Given the description of an element on the screen output the (x, y) to click on. 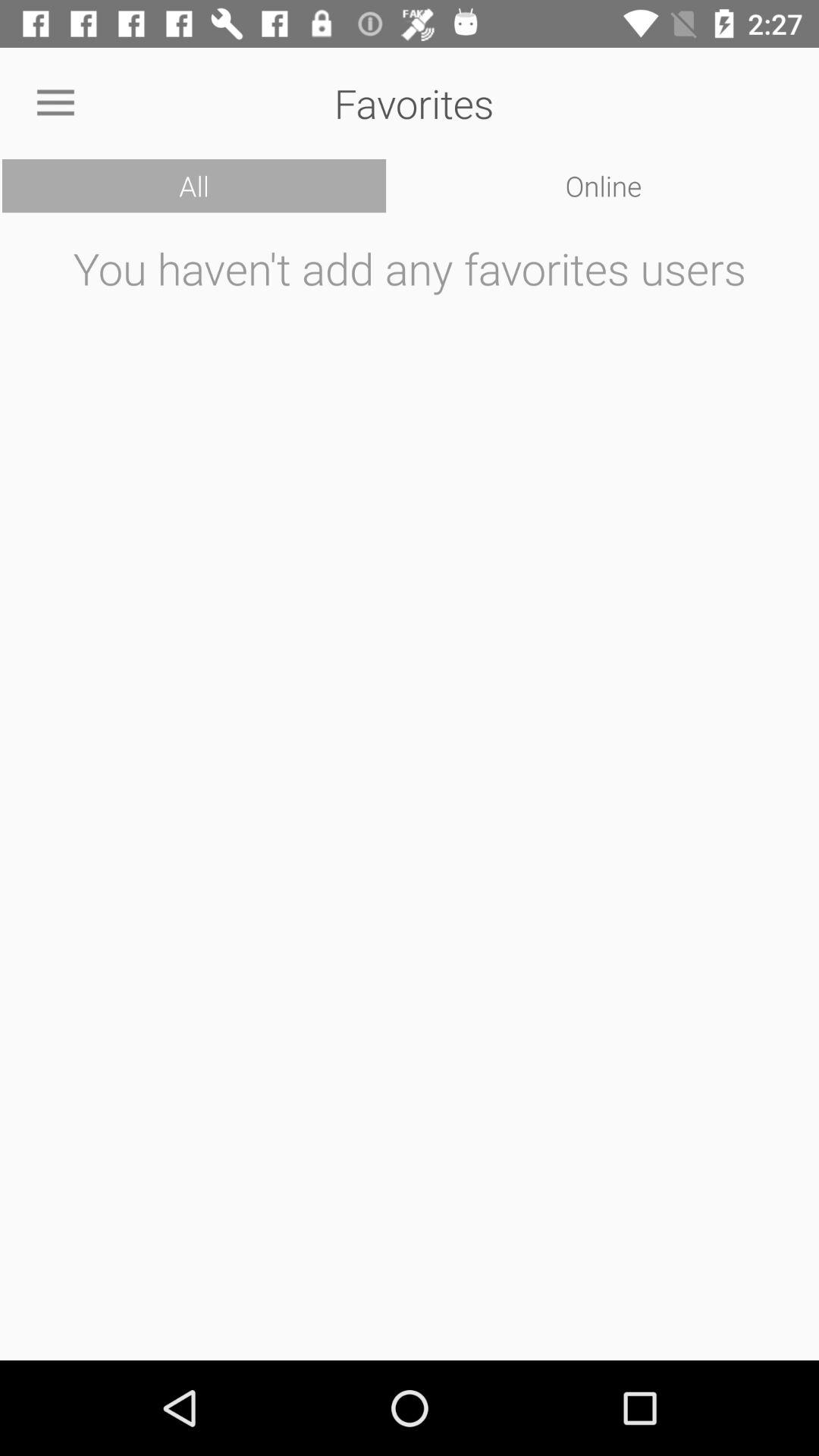
tap all (194, 185)
